Given the description of an element on the screen output the (x, y) to click on. 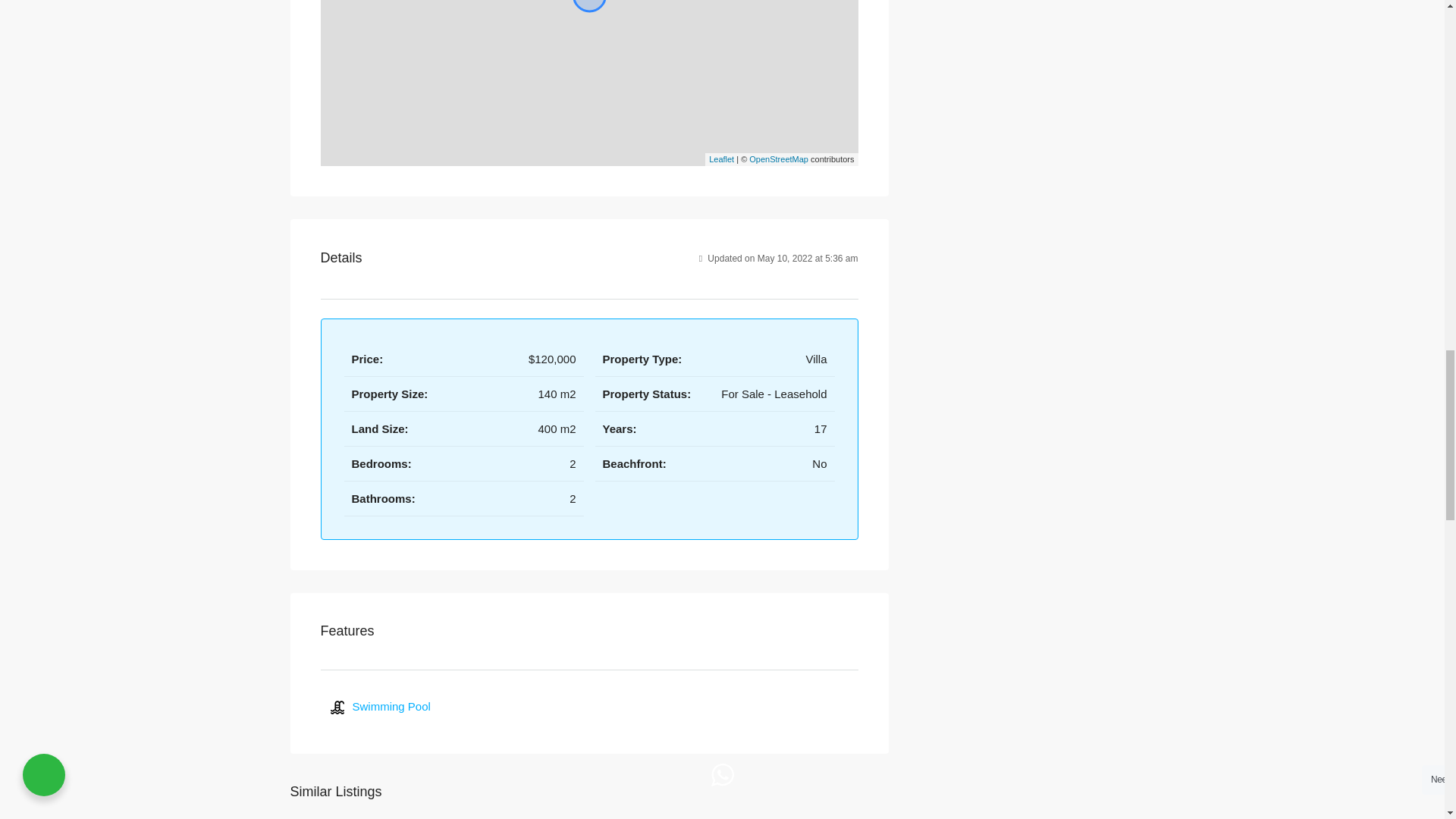
A JS library for interactive maps (721, 158)
